Given the description of an element on the screen output the (x, y) to click on. 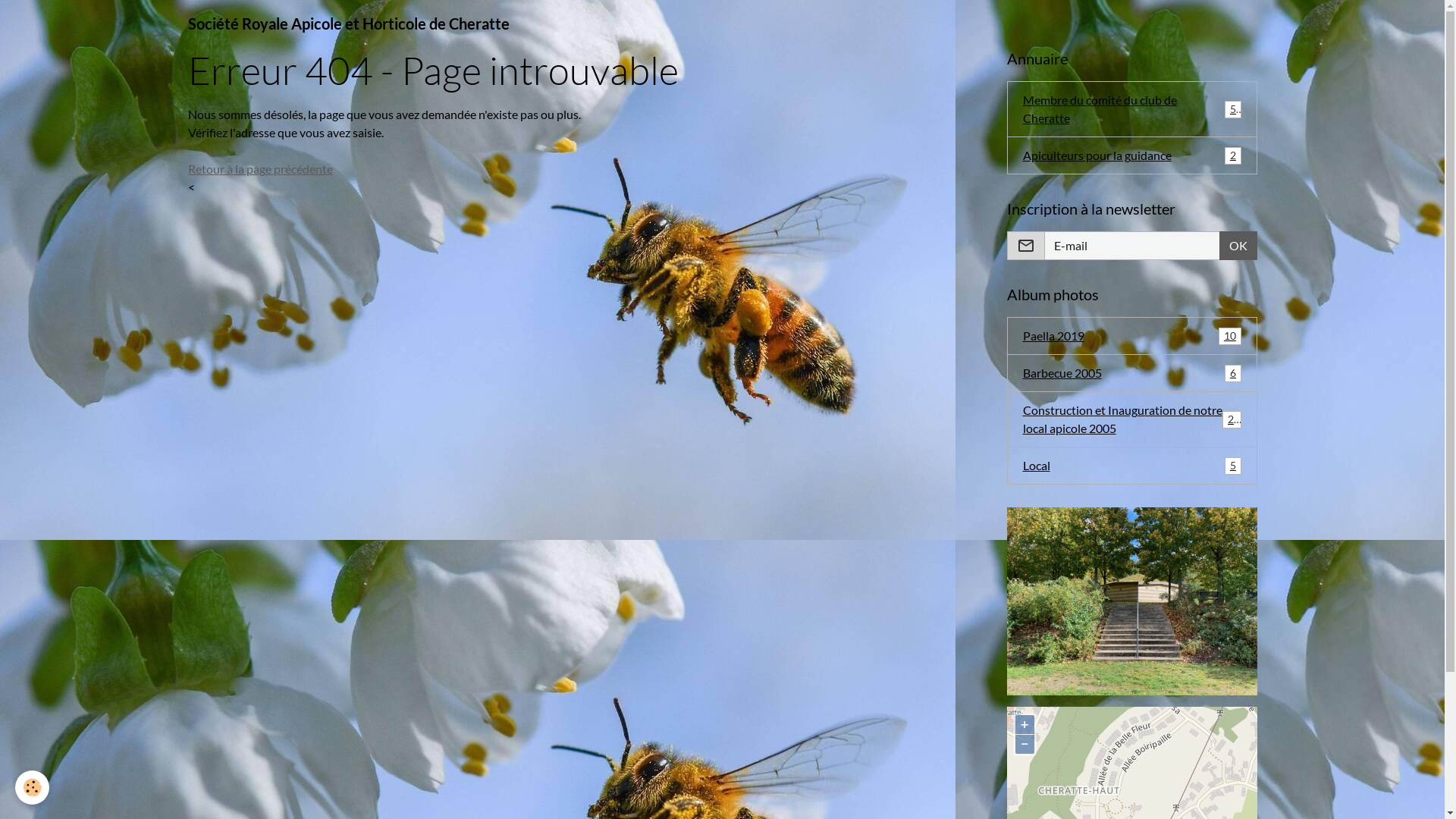
OK Element type: text (1238, 245)
Paella 2019
10 Element type: text (1132, 335)
Barbecue 2005
6 Element type: text (1132, 373)
Construction et Inauguration de notre local apicole 2005
23 Element type: text (1132, 419)
Local
5 Element type: text (1132, 465)
+ Element type: text (1023, 723)
Apiculteurs pour la guidance
2 Element type: text (1132, 155)
